Given the description of an element on the screen output the (x, y) to click on. 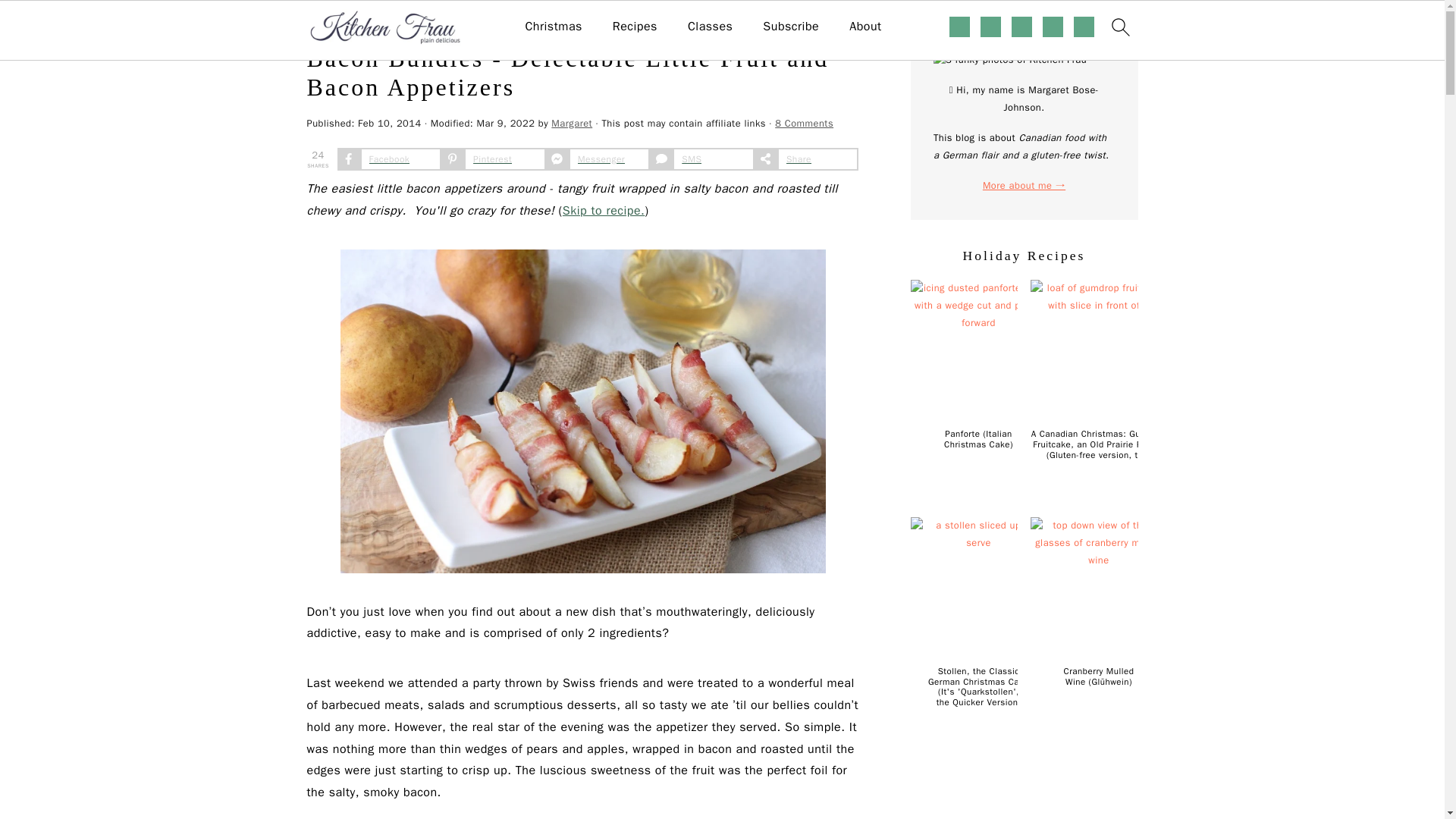
Appetizers (367, 23)
search icon (1119, 26)
Subscribe (790, 26)
About (864, 26)
Classes (709, 26)
Recipes (635, 26)
Home (319, 23)
Christmas (552, 26)
